Given the description of an element on the screen output the (x, y) to click on. 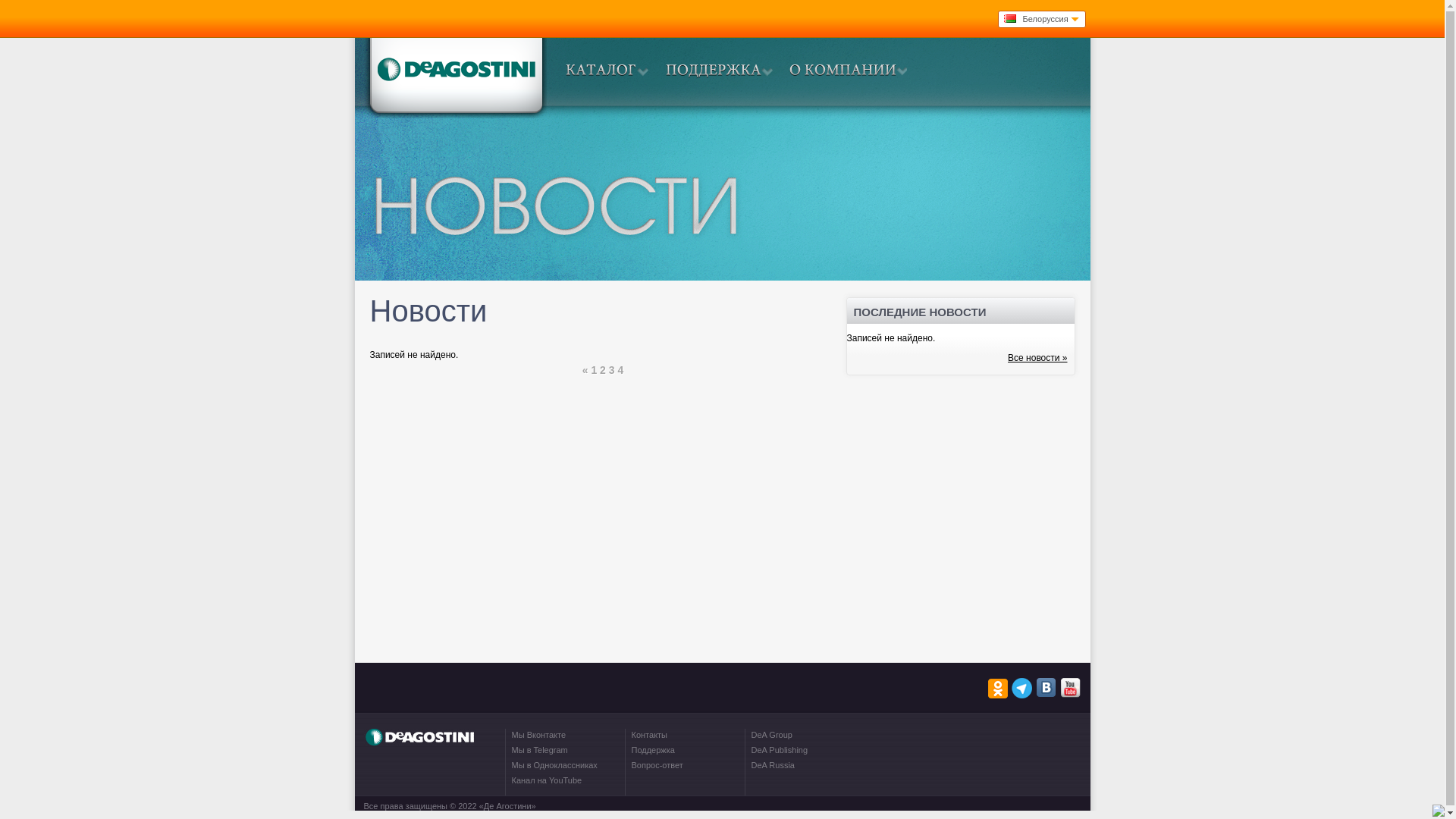
3 Element type: text (613, 370)
VKontakte Element type: text (1046, 688)
2 Element type: text (603, 370)
Telegram Element type: text (1021, 688)
Youtube Element type: text (1070, 688)
DeA Group Element type: text (770, 734)
DeA Russia Element type: text (771, 764)
1 Element type: text (594, 370)
4 Element type: text (620, 370)
DeA Publishing Element type: text (778, 749)
DeAgostini Element type: hover (419, 745)
DeAgostini Element type: hover (454, 77)
